Given the description of an element on the screen output the (x, y) to click on. 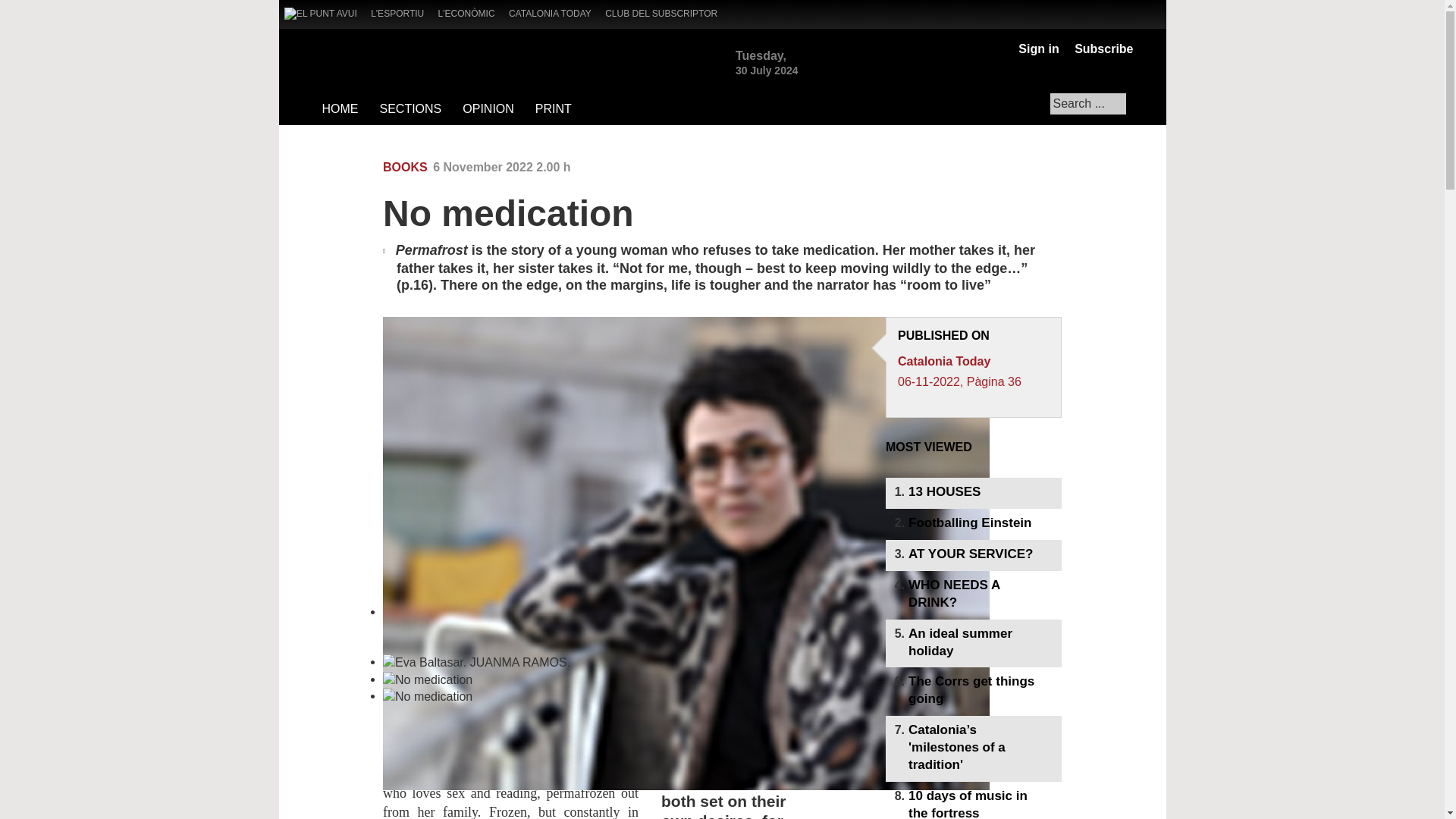
Sign in (1037, 49)
Share on Facebook (946, 167)
OPINION (487, 109)
CLUB DEL SUBSCRIPTOR (667, 12)
HOME (339, 109)
Print (1051, 167)
Share on WhatsApp (921, 167)
Subscribe (1099, 48)
El Punt Avui (319, 13)
Eva Baltasar. JUANMA RAMOS. (686, 712)
CATALONIA TODAY (555, 12)
Search ... (1087, 103)
PRINT (552, 109)
Share on Twitter (970, 167)
